Given the description of an element on the screen output the (x, y) to click on. 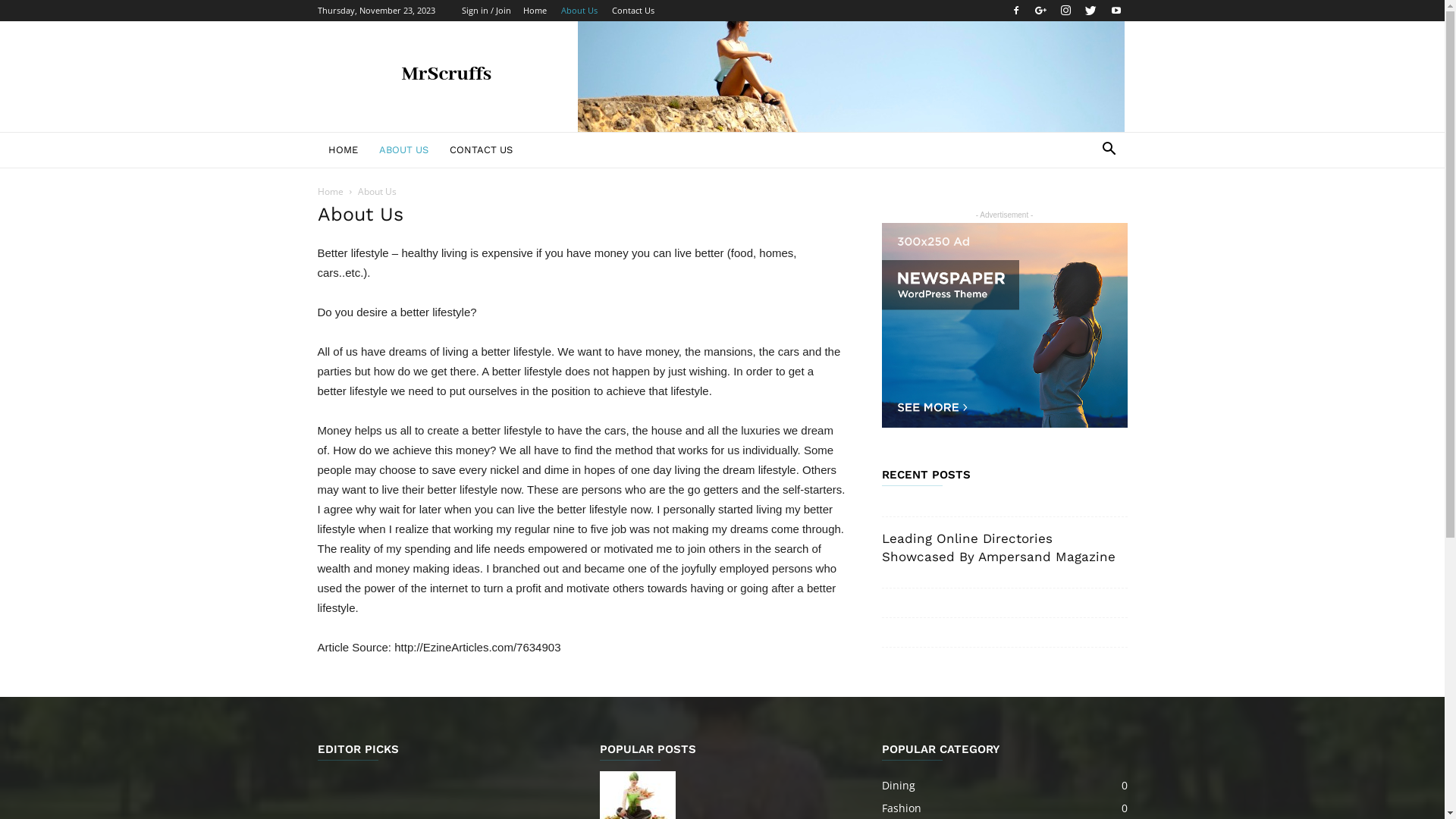
Facebook Element type: hover (1015, 10)
Home Element type: text (534, 9)
Search Element type: text (1085, 210)
ABOUT US Element type: text (403, 149)
Youtube Element type: hover (1115, 10)
Dining
0 Element type: text (897, 785)
Contact Us Element type: text (632, 9)
HOME Element type: text (341, 149)
Home Element type: text (329, 191)
About Us Element type: text (579, 9)
Sign in / Join Element type: text (485, 9)
Google+ Element type: hover (1040, 10)
Leading Online Directories Showcased By Ampersand Magazine Element type: text (997, 547)
Instagram Element type: hover (1065, 10)
Twitter Element type: hover (1090, 10)
CONTACT US Element type: text (480, 149)
Fashion
0 Element type: text (900, 807)
